Given the description of an element on the screen output the (x, y) to click on. 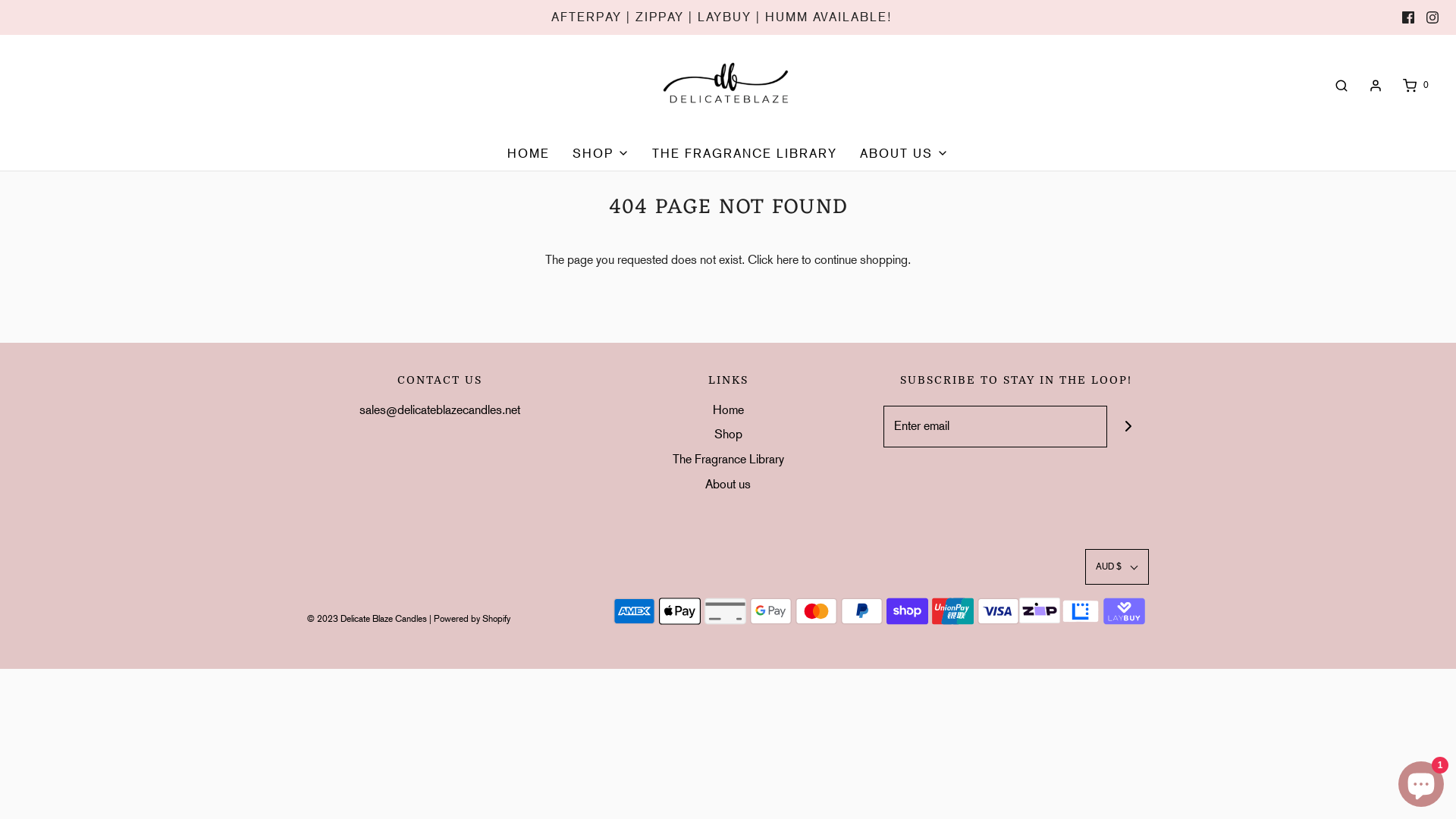
AUD $ Element type: text (1116, 566)
THE FRAGRANCE LIBRARY Element type: text (744, 153)
HOME Element type: text (528, 153)
SHOP Element type: text (600, 153)
Home Element type: text (727, 412)
Log in Element type: hover (1375, 85)
INSTAGRAM ICON Element type: text (1432, 17)
Powered by Shopify Element type: text (471, 618)
0 Element type: text (1414, 85)
ABOUT US Element type: text (903, 153)
Shopify online store chat Element type: hover (1420, 780)
The Fragrance Library Element type: text (727, 461)
here Element type: text (787, 259)
Search Element type: hover (1341, 85)
Shop Element type: text (728, 436)
About us Element type: text (727, 486)
FACEBOOK ICON Element type: text (1408, 17)
